Given the description of an element on the screen output the (x, y) to click on. 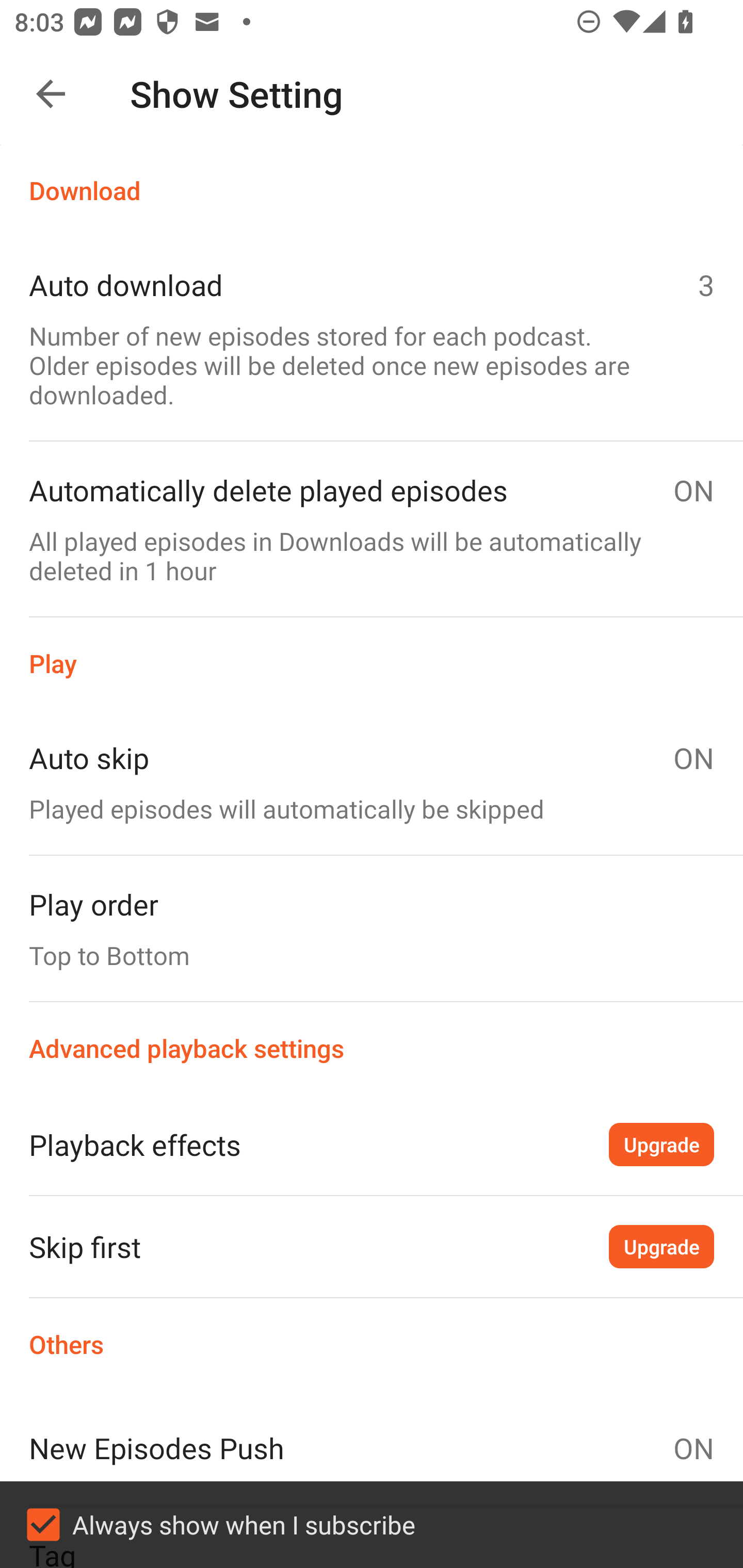
Navigate up (50, 93)
Play order Top to Bottom (371, 928)
Playback effects Upgrade (371, 1144)
Skip first Upgrade (371, 1246)
New Episodes Push ON (371, 1447)
Always show when I subscribe (371, 1524)
